Given the description of an element on the screen output the (x, y) to click on. 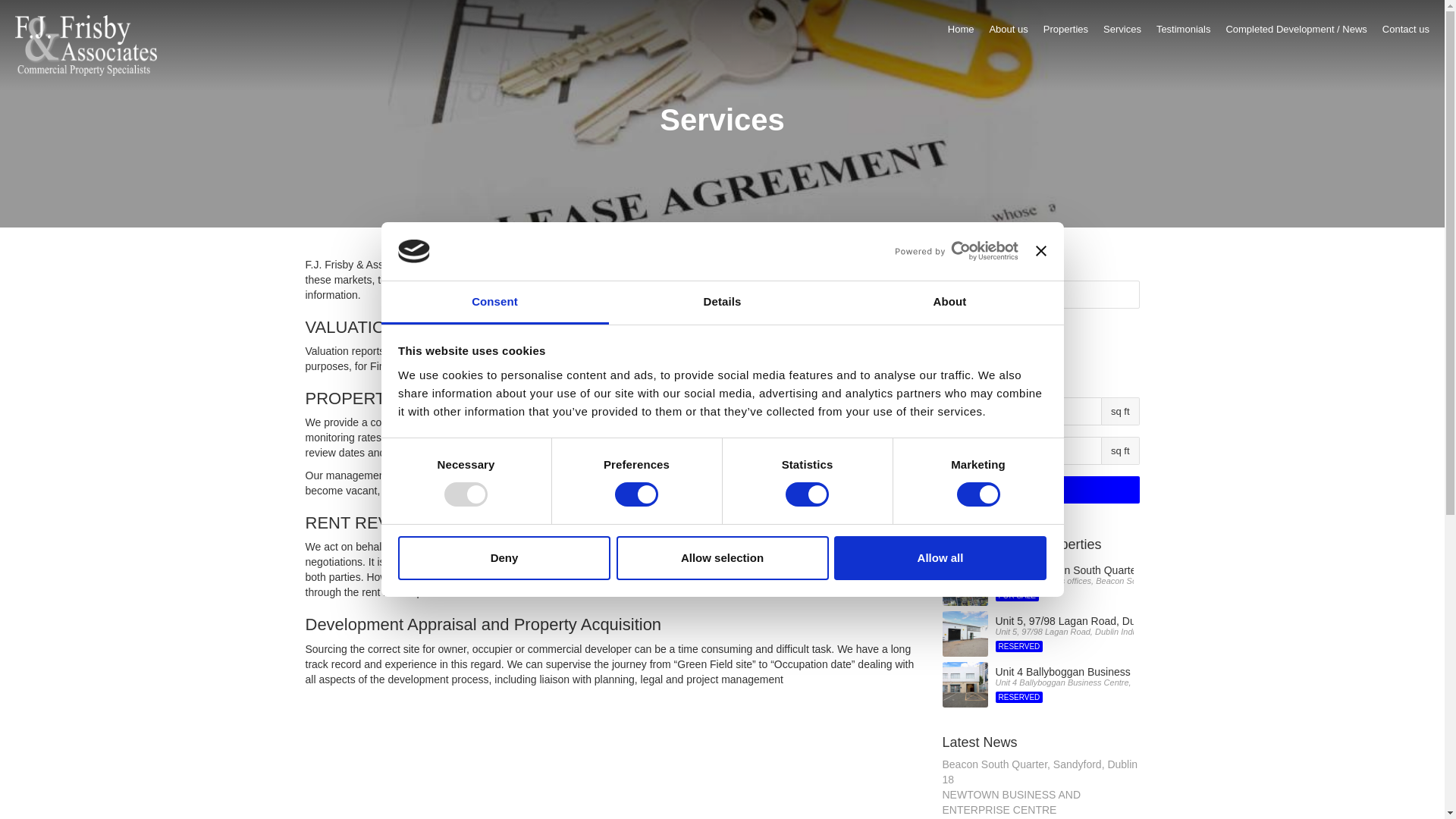
Allow selection (721, 557)
Contact us (1405, 33)
Home (960, 33)
About us (1007, 33)
Allow all (940, 557)
Consent (494, 302)
Deny (971, 371)
Details (503, 557)
Properties (721, 302)
Search (1065, 33)
Testimonials (1040, 489)
Services (1183, 33)
About (1122, 33)
